Given the description of an element on the screen output the (x, y) to click on. 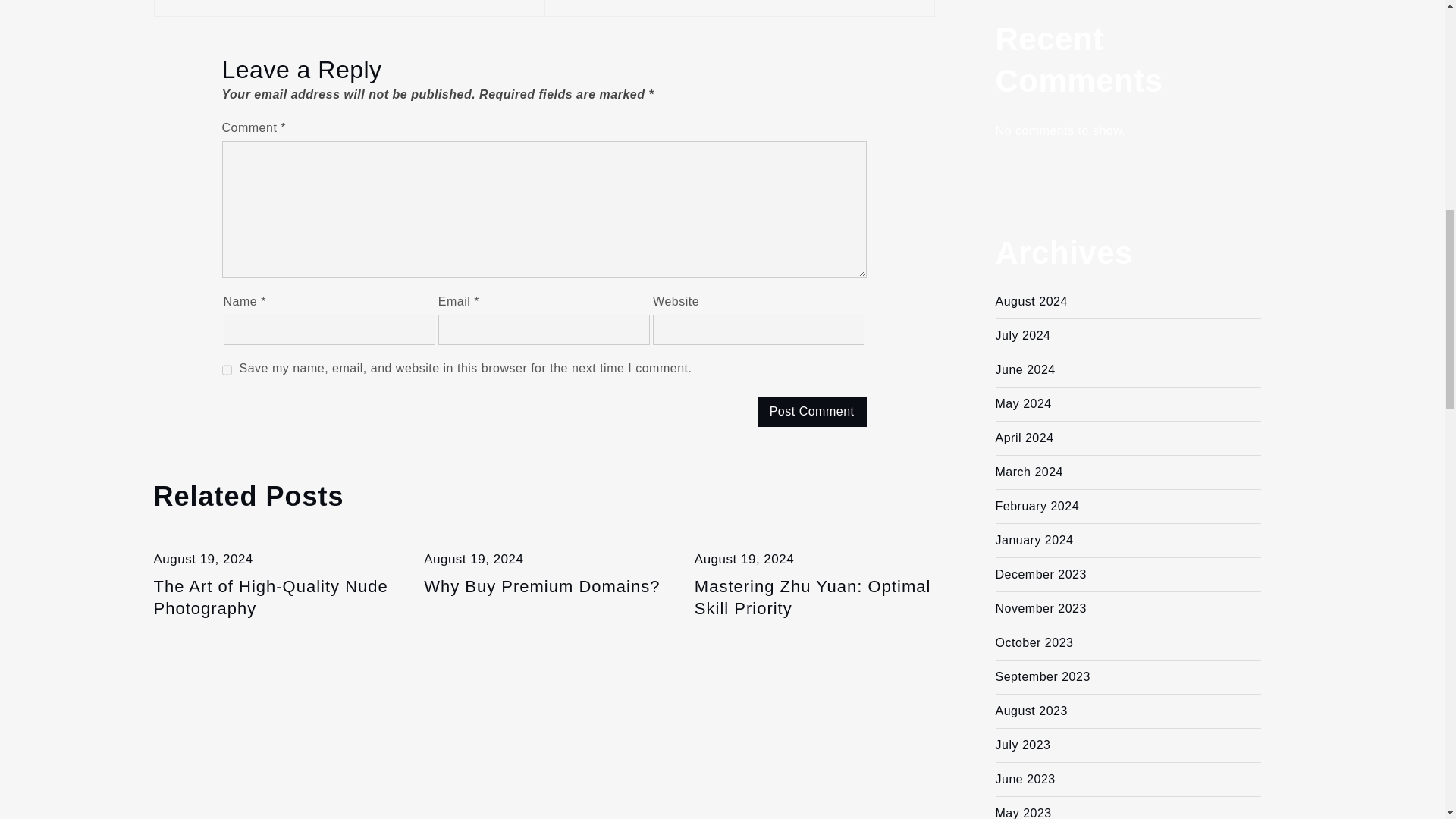
August 19, 2024 (201, 559)
June 2024 (1024, 369)
August 2024 (1030, 300)
Post Comment (811, 411)
April 2024 (1023, 437)
The Art of High-Quality Nude Photography (814, 597)
Why Buy Premium Domains? (272, 597)
